Given the description of an element on the screen output the (x, y) to click on. 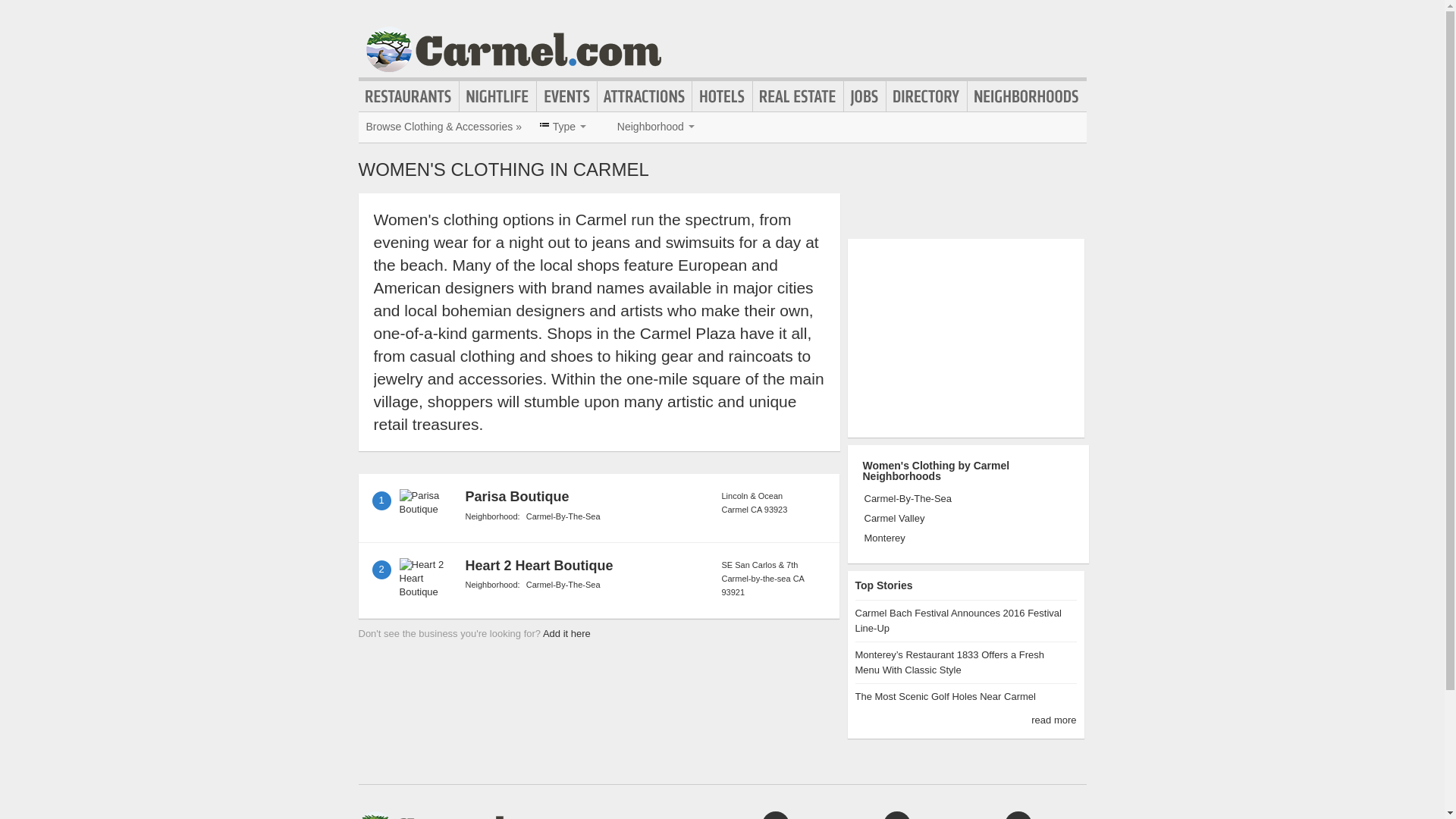
Jobs (864, 96)
Restaurants (408, 96)
Hotels (722, 96)
Real Estate (797, 96)
Directory (926, 96)
Events (566, 96)
Neighborhoods (1027, 96)
Attractions (643, 96)
Nightlife (497, 96)
Type (562, 126)
